Given the description of an element on the screen output the (x, y) to click on. 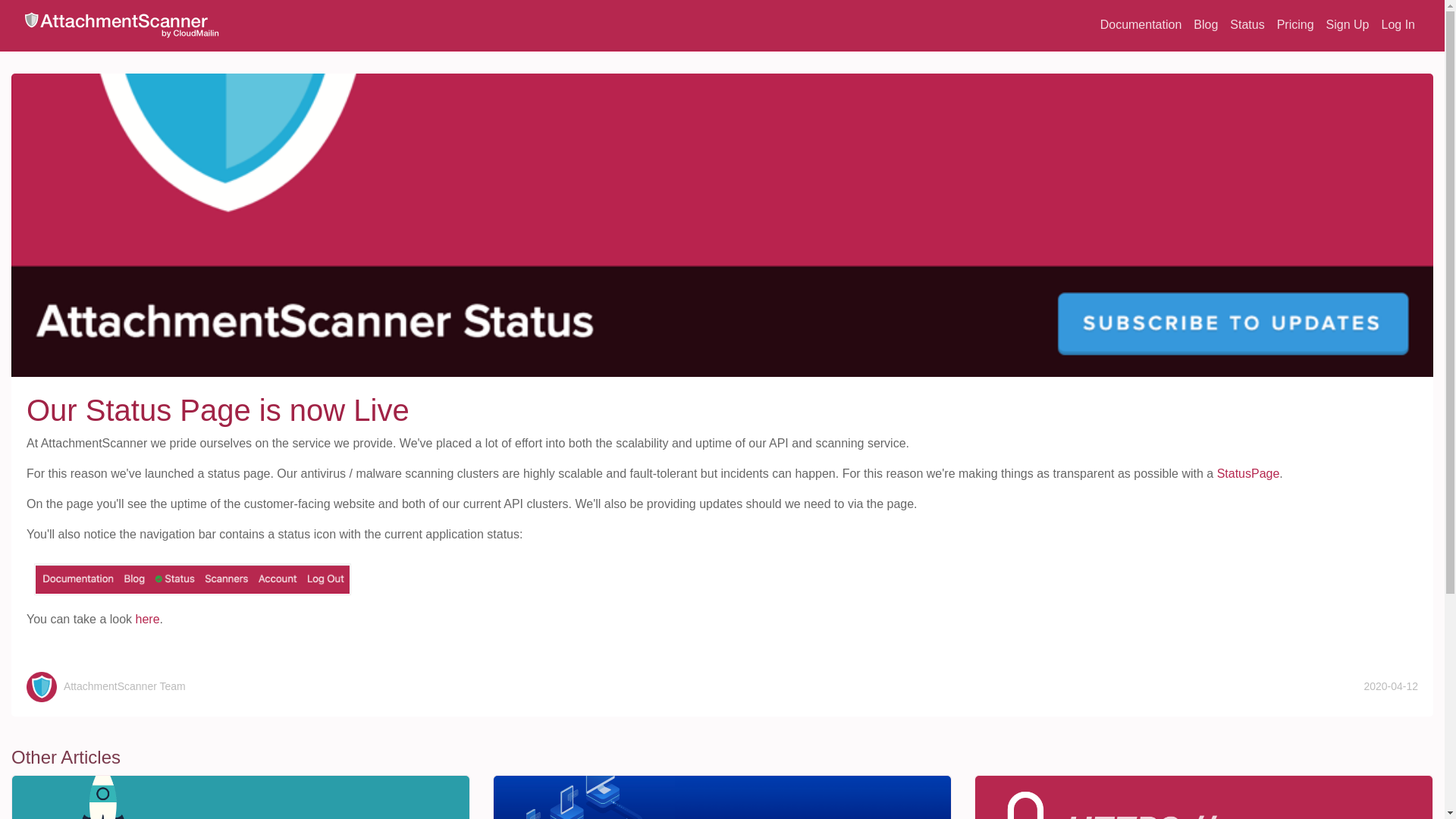
Status (1246, 24)
Blog (1206, 24)
Sign Up (1347, 24)
Log In (1398, 24)
Documentation (1141, 24)
here (147, 618)
StatusPage (1248, 472)
Pricing (1295, 24)
